Given the description of an element on the screen output the (x, y) to click on. 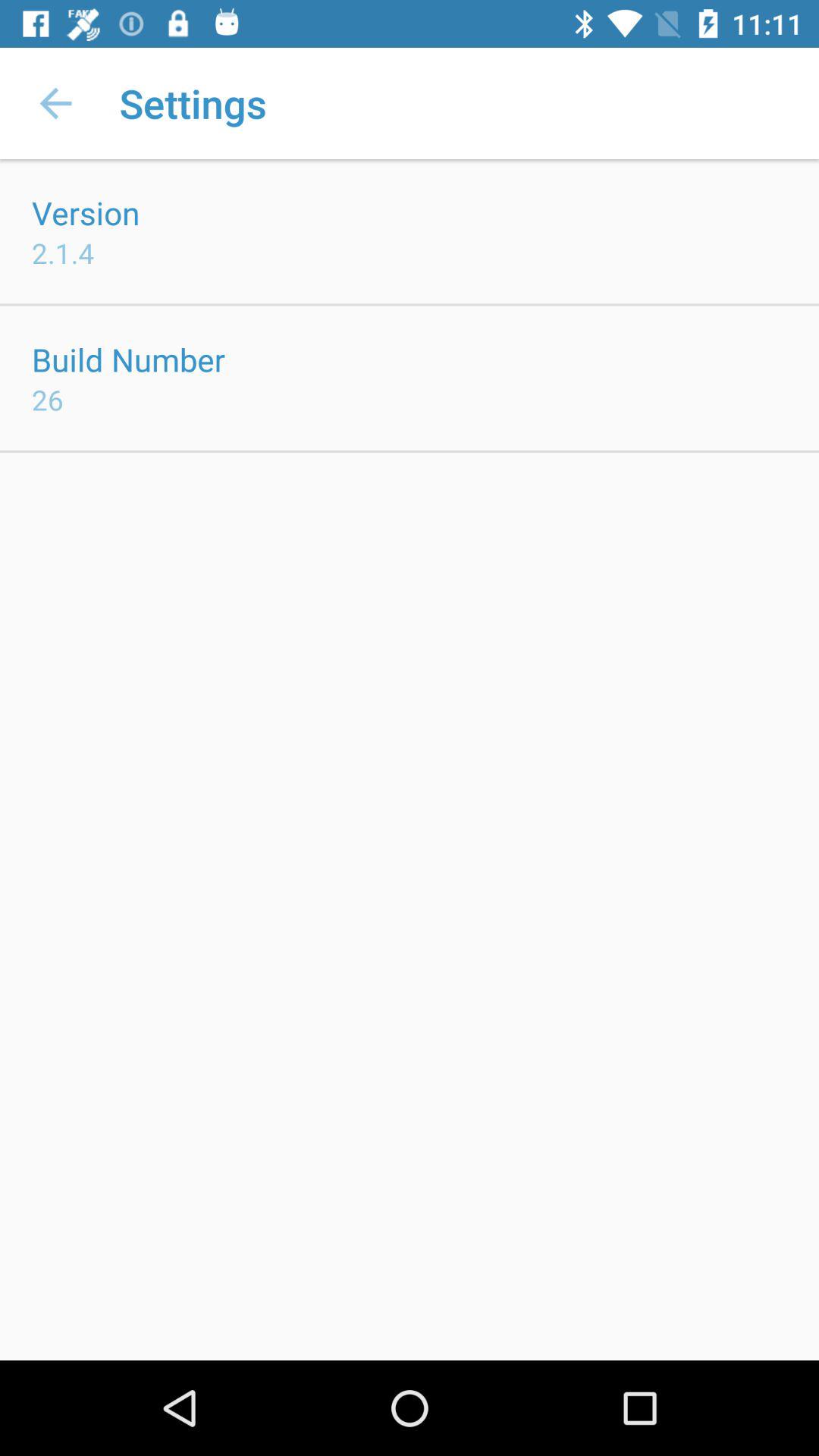
click the icon below 2.1.4 icon (128, 359)
